Given the description of an element on the screen output the (x, y) to click on. 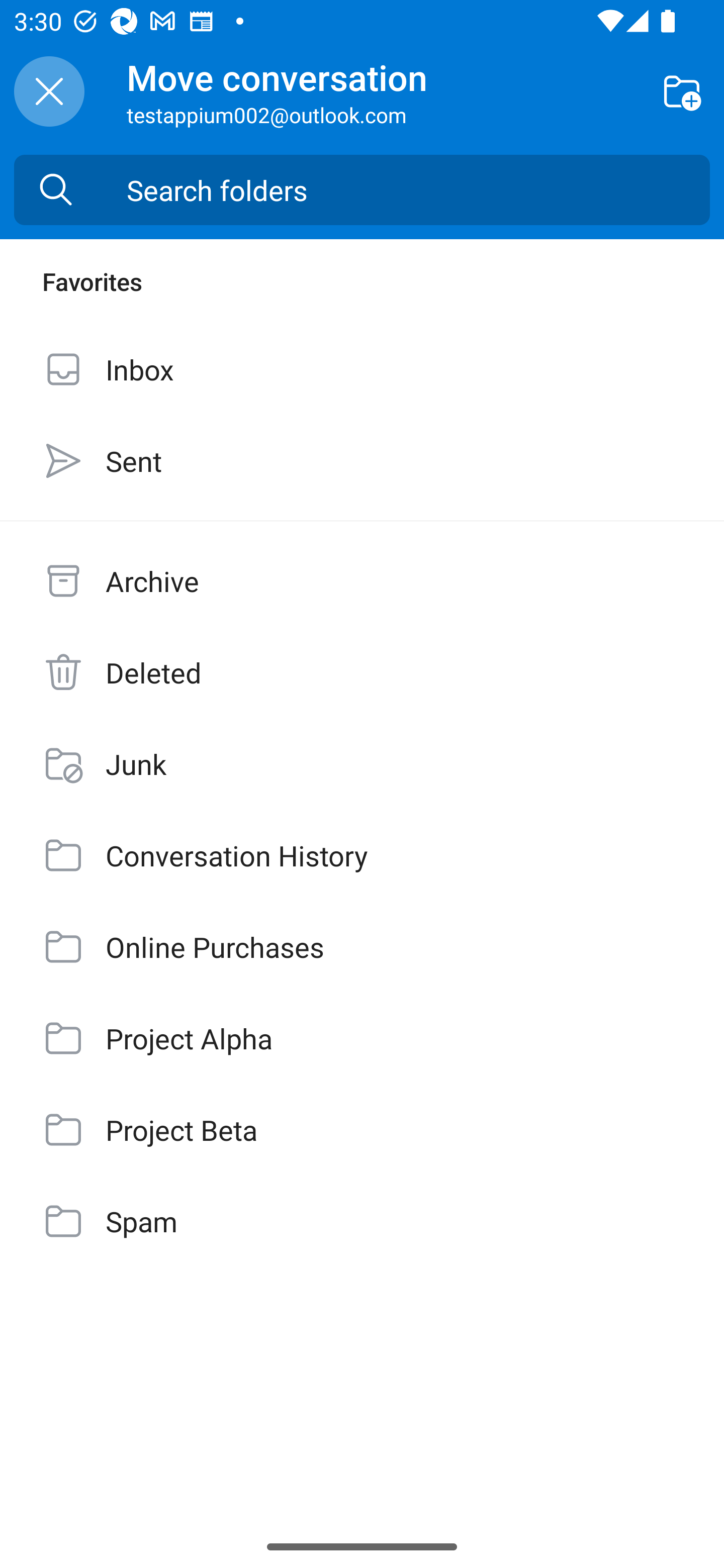
Move conversation, Cancel (49, 91)
Create new folder (681, 90)
Search folders (418, 190)
Inbox (362, 369)
Sent (362, 460)
Archive (362, 580)
Deleted (362, 672)
Junk (362, 763)
Conversation History (362, 855)
Online Purchases (362, 946)
Project Alpha (362, 1037)
Project Beta (362, 1129)
Spam (362, 1221)
